Given the description of an element on the screen output the (x, y) to click on. 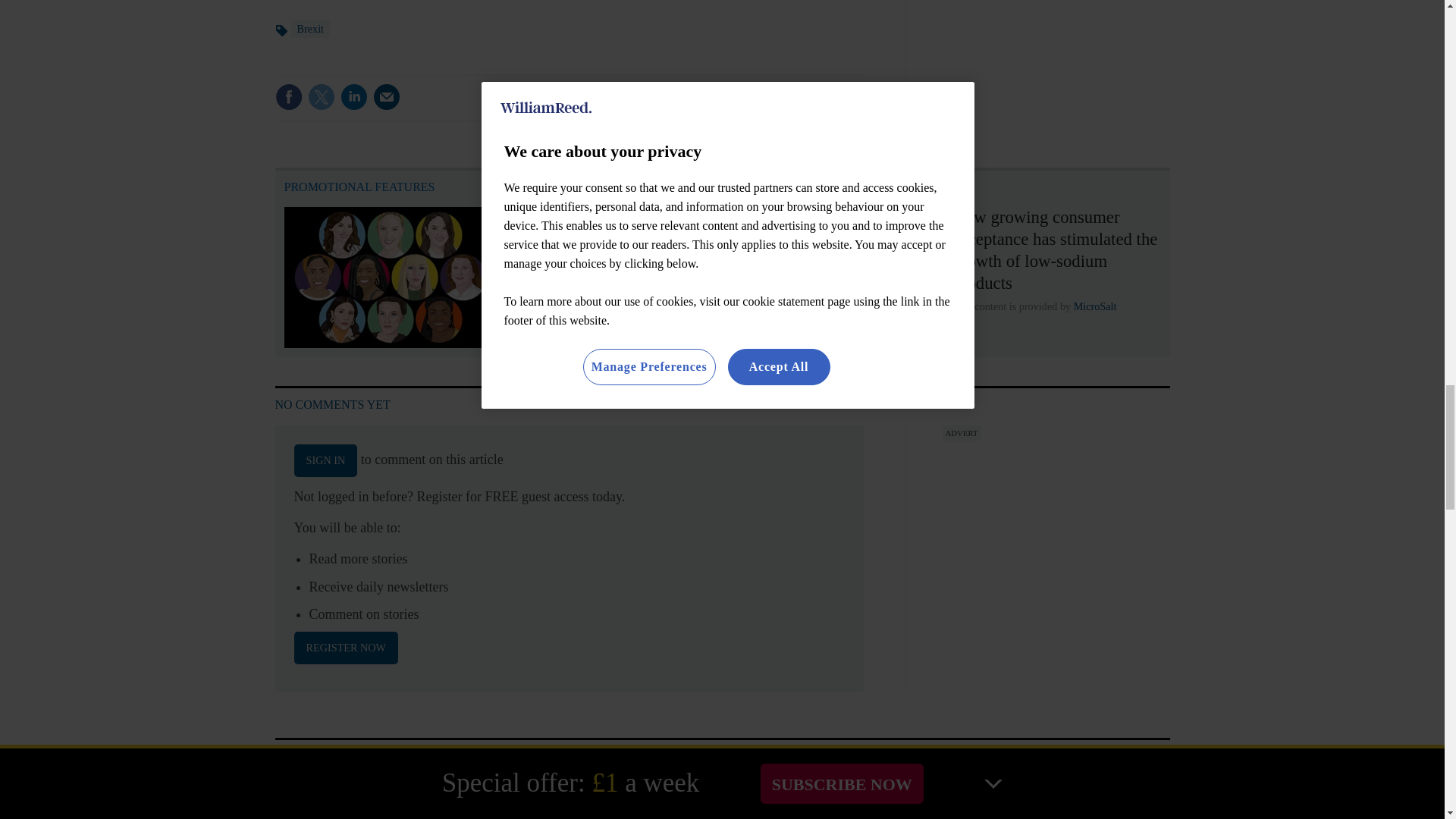
Share this on Twitter (320, 96)
Email this article (386, 96)
No comments (812, 105)
Share this on Linked in (352, 96)
Share this on Facebook (288, 96)
